Given the description of an element on the screen output the (x, y) to click on. 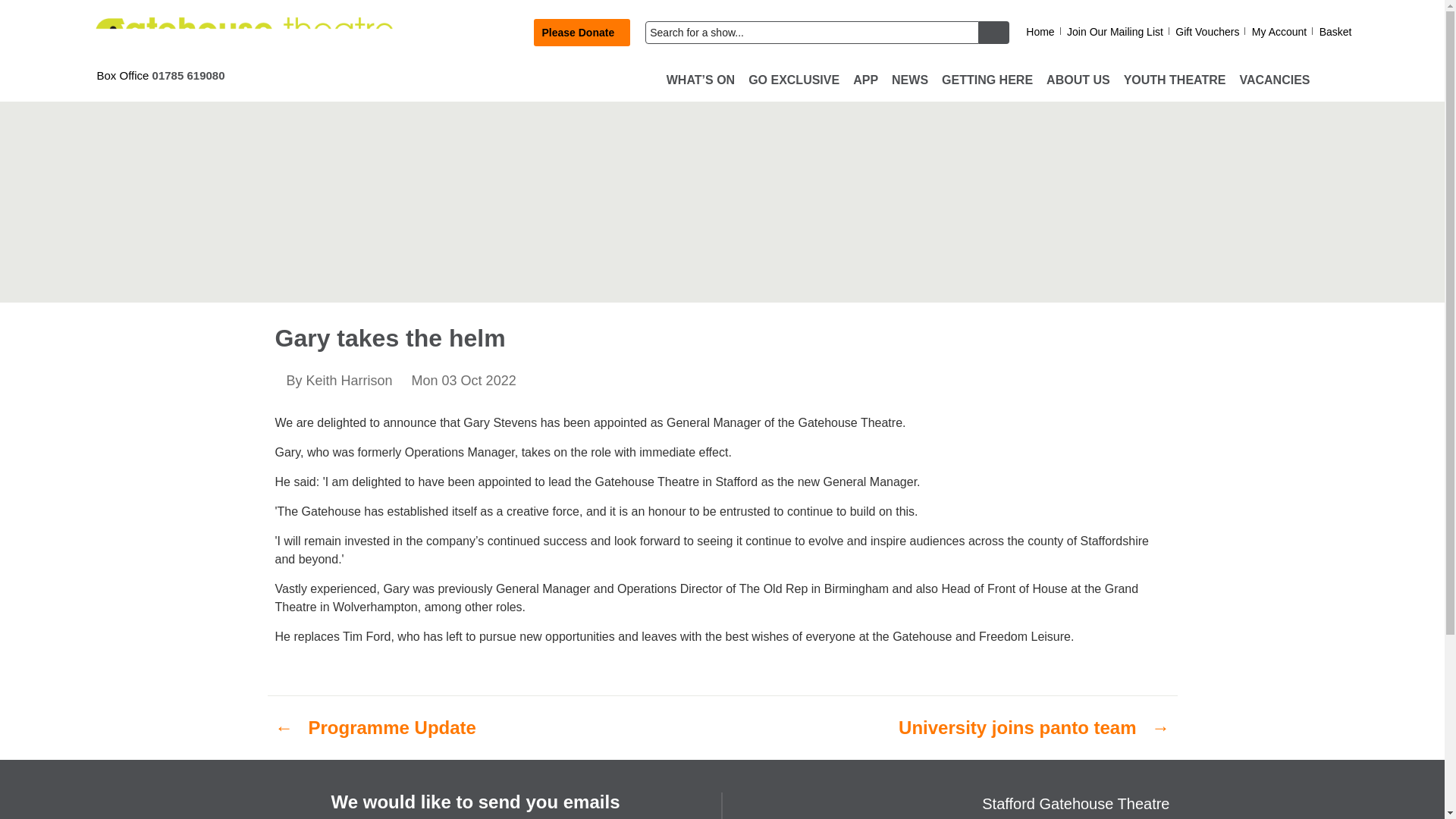
Home (1040, 32)
GETTING HERE (987, 80)
About us (1078, 80)
VACANCIES (1273, 80)
Please Donate (582, 31)
My Account (1279, 32)
Search events (811, 32)
Vacancies (1273, 80)
Gift Vouchers (1206, 32)
Posts by Keith Harrison (349, 380)
